Given the description of an element on the screen output the (x, y) to click on. 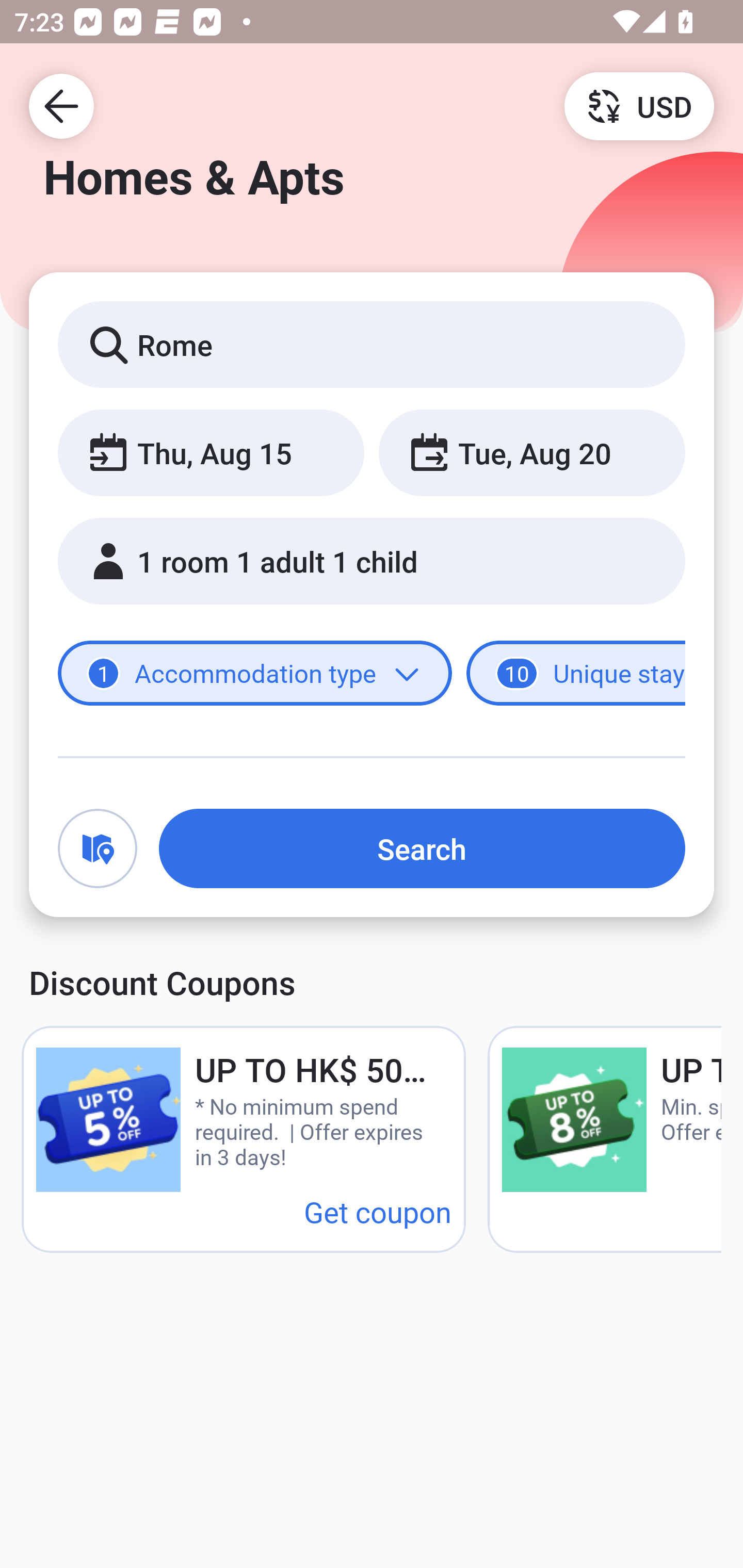
USD (639, 105)
Rome (371, 344)
Thu, Aug 15 (210, 452)
Tue, Aug 20 (531, 452)
1 room 1 adult 1 child (371, 561)
1 Accommodation type (254, 673)
10 Unique stays (575, 673)
Search (422, 848)
Get coupon (377, 1211)
